Given the description of an element on the screen output the (x, y) to click on. 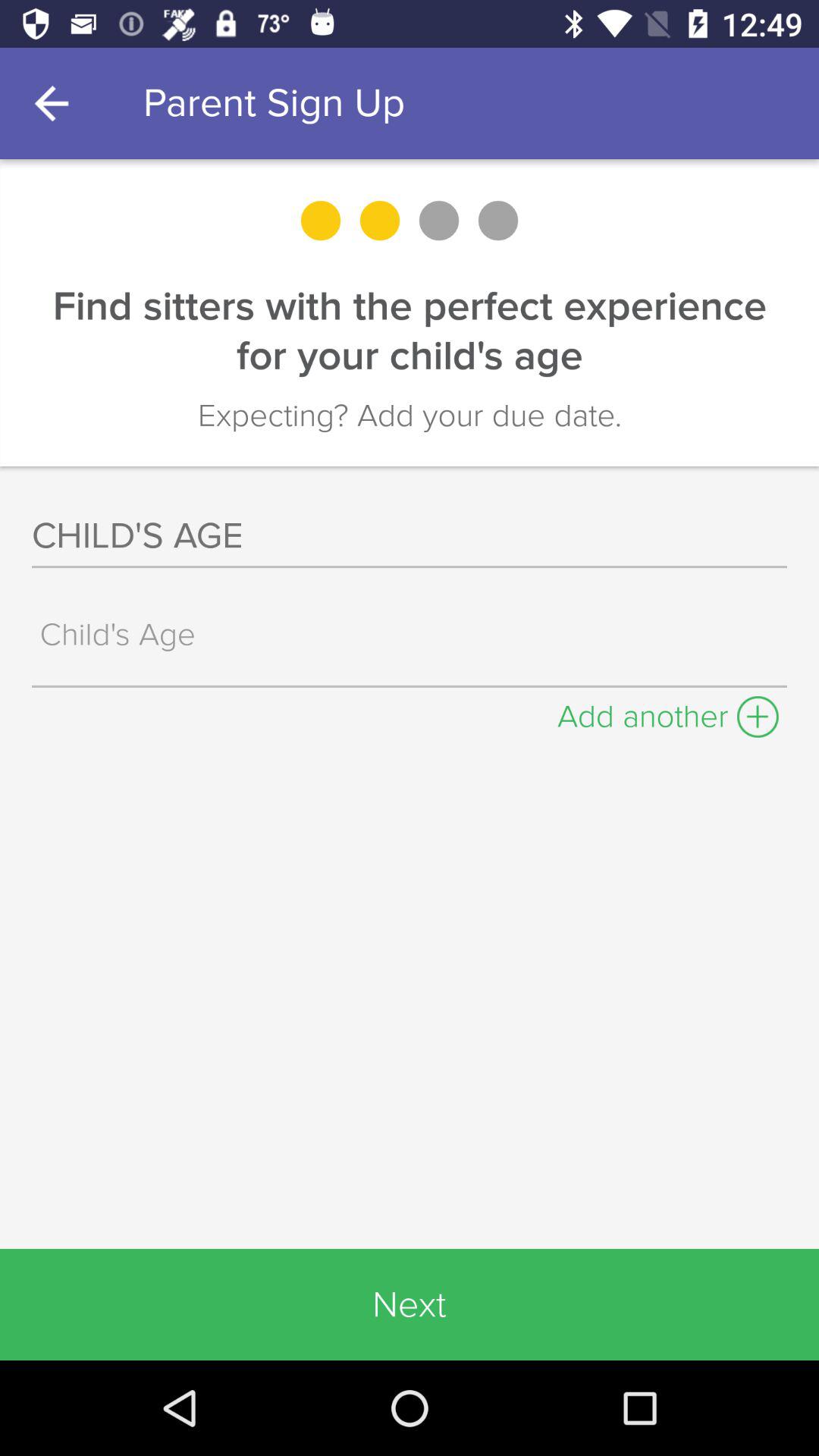
go to search box (413, 634)
